Given the description of an element on the screen output the (x, y) to click on. 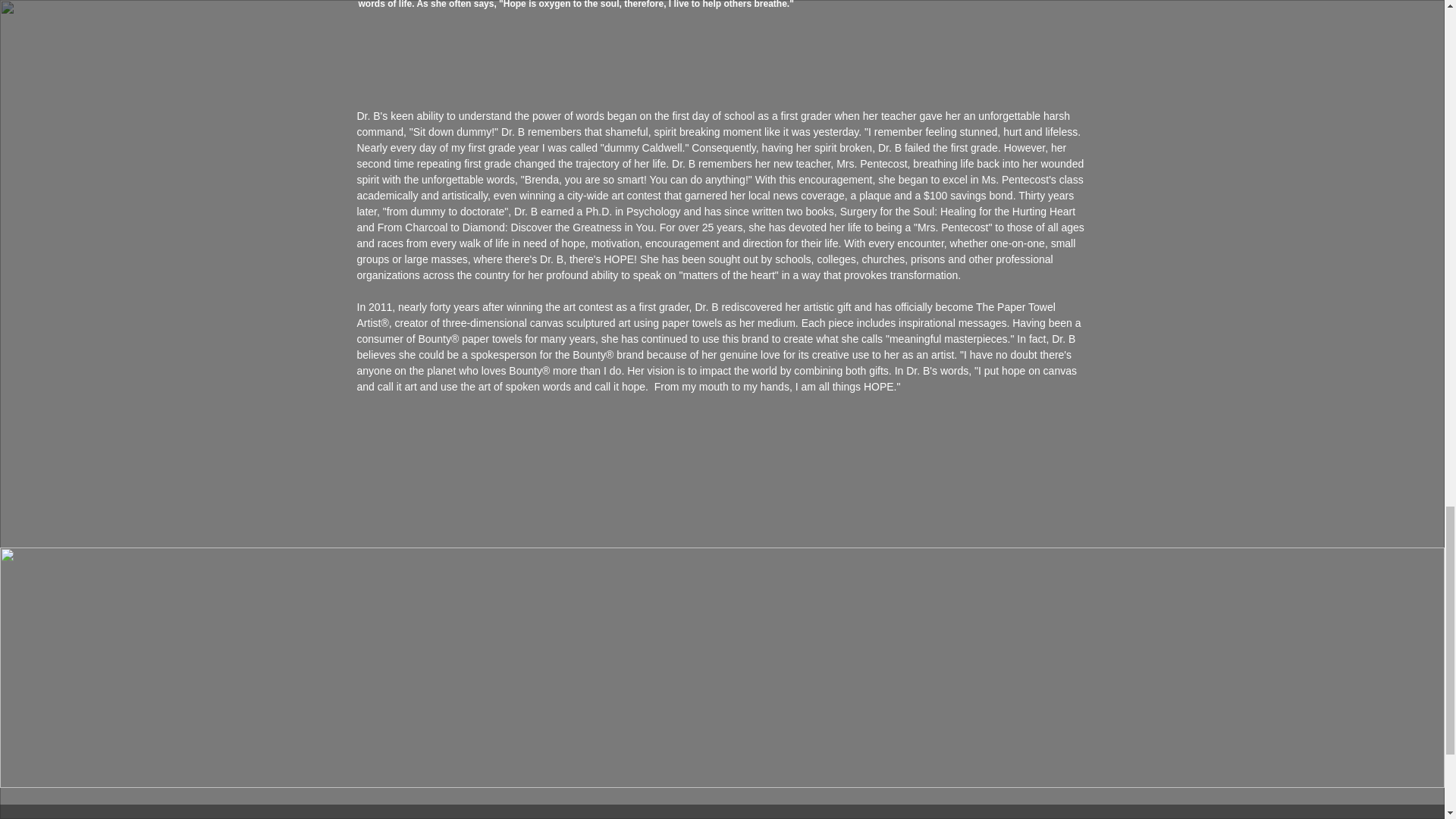
External YouTube (532, 667)
External YouTube (911, 667)
